Given the description of an element on the screen output the (x, y) to click on. 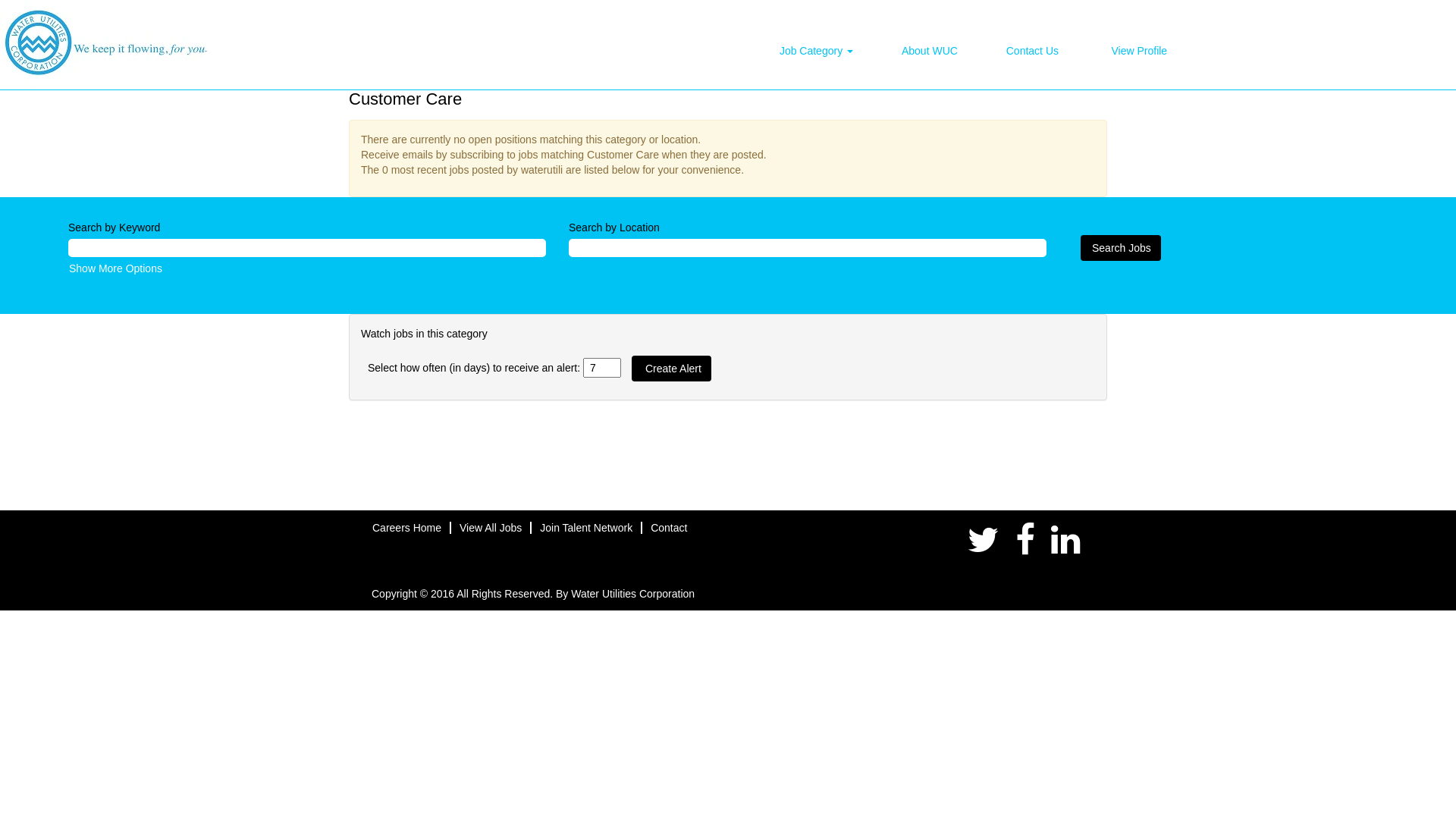
Contact Element type: text (668, 527)
View Profile Element type: text (1138, 50)
Search Jobs Element type: text (1120, 247)
Join Talent Network Element type: text (586, 527)
facebook Element type: hover (1024, 540)
Contact Us Element type: text (1032, 50)
Create Alert Element type: hover (671, 368)
Create Alert Element type: text (671, 368)
View All Jobs Element type: text (490, 527)
Show More Options Element type: text (115, 268)
Job Category Element type: text (816, 50)
About WUC Element type: text (929, 50)
twitter Element type: hover (983, 540)
linkedin Element type: hover (1065, 540)
Careers Home Element type: text (406, 527)
